Given the description of an element on the screen output the (x, y) to click on. 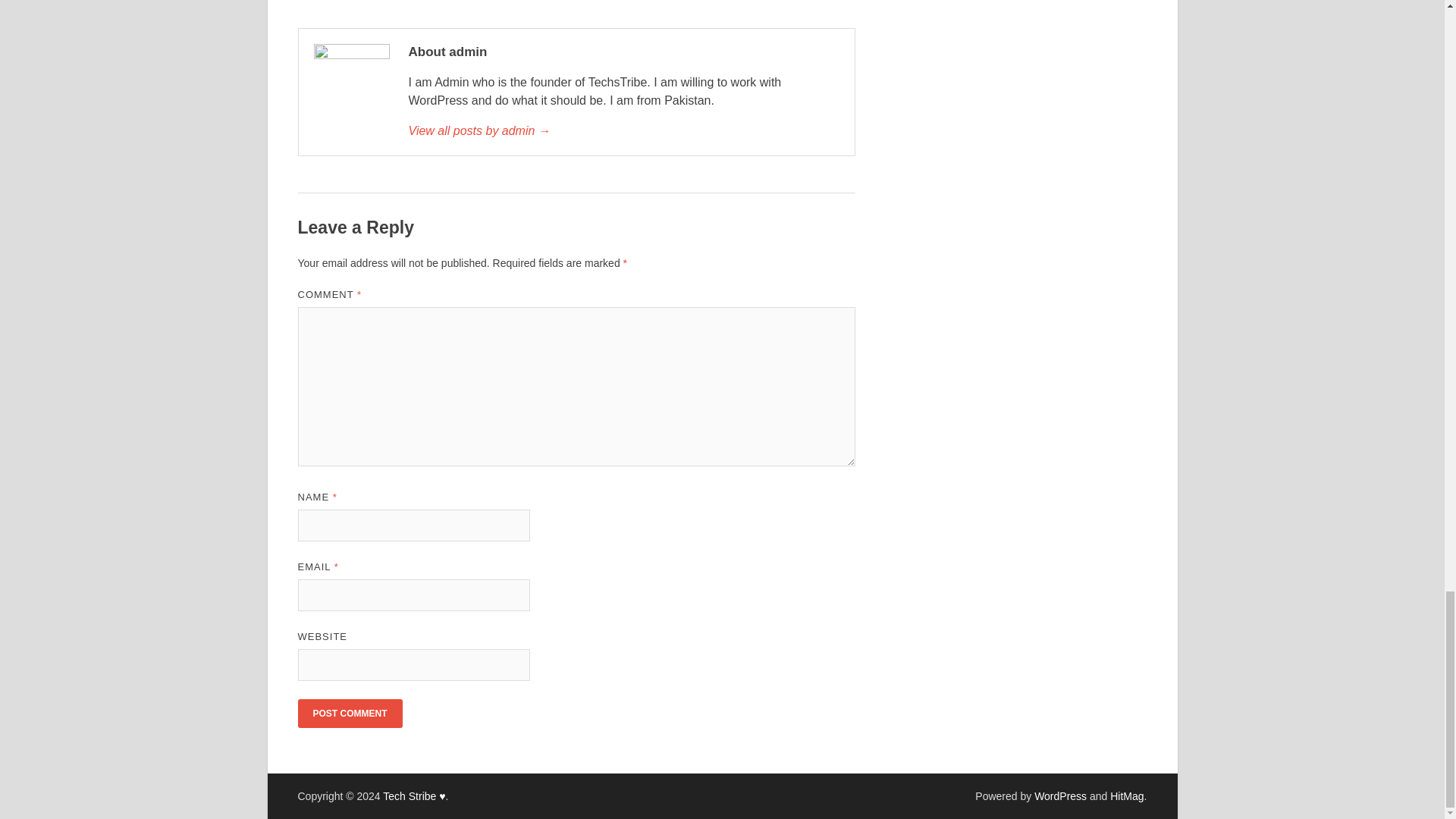
HitMag (1125, 796)
Post Comment (349, 713)
WordPress (1059, 796)
HitMag WordPress Theme (1125, 796)
admin (622, 131)
Post Comment (349, 713)
WordPress (1059, 796)
